Given the description of an element on the screen output the (x, y) to click on. 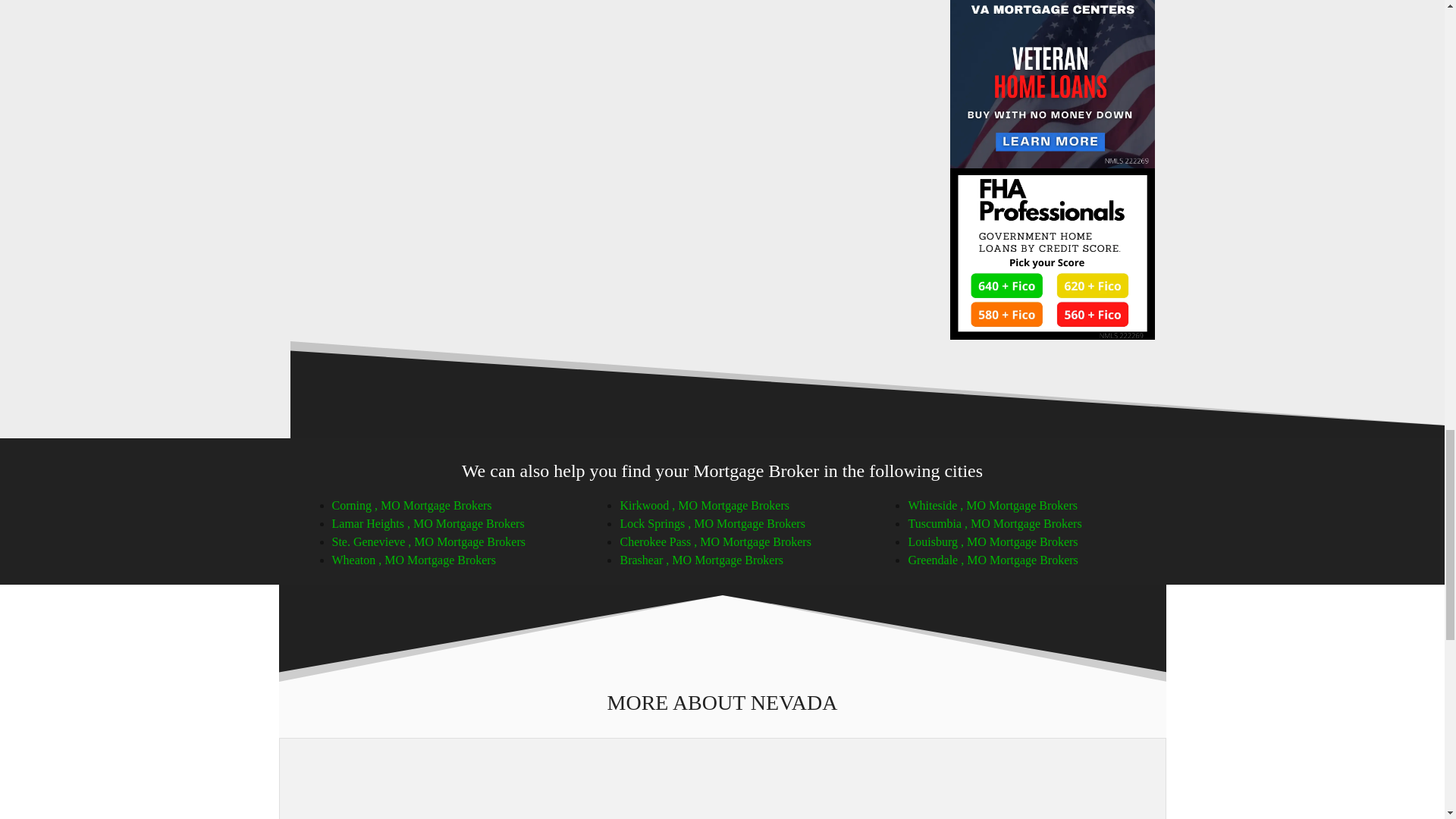
Kirkwood , MO Mortgage Brokers (704, 504)
Cherokee Pass , MO Mortgage Brokers (715, 541)
Louisburg , MO Mortgage Brokers (992, 541)
Brashear , MO Mortgage Brokers (701, 559)
Wheaton , MO Mortgage Brokers (413, 559)
Corning , MO Mortgage Brokers (411, 504)
Whiteside , MO Mortgage Brokers (992, 504)
Lamar Heights , MO Mortgage Brokers (427, 522)
Lock Springs , MO Mortgage Brokers (712, 522)
Ste. Genevieve , MO Mortgage Brokers (428, 541)
